Given the description of an element on the screen output the (x, y) to click on. 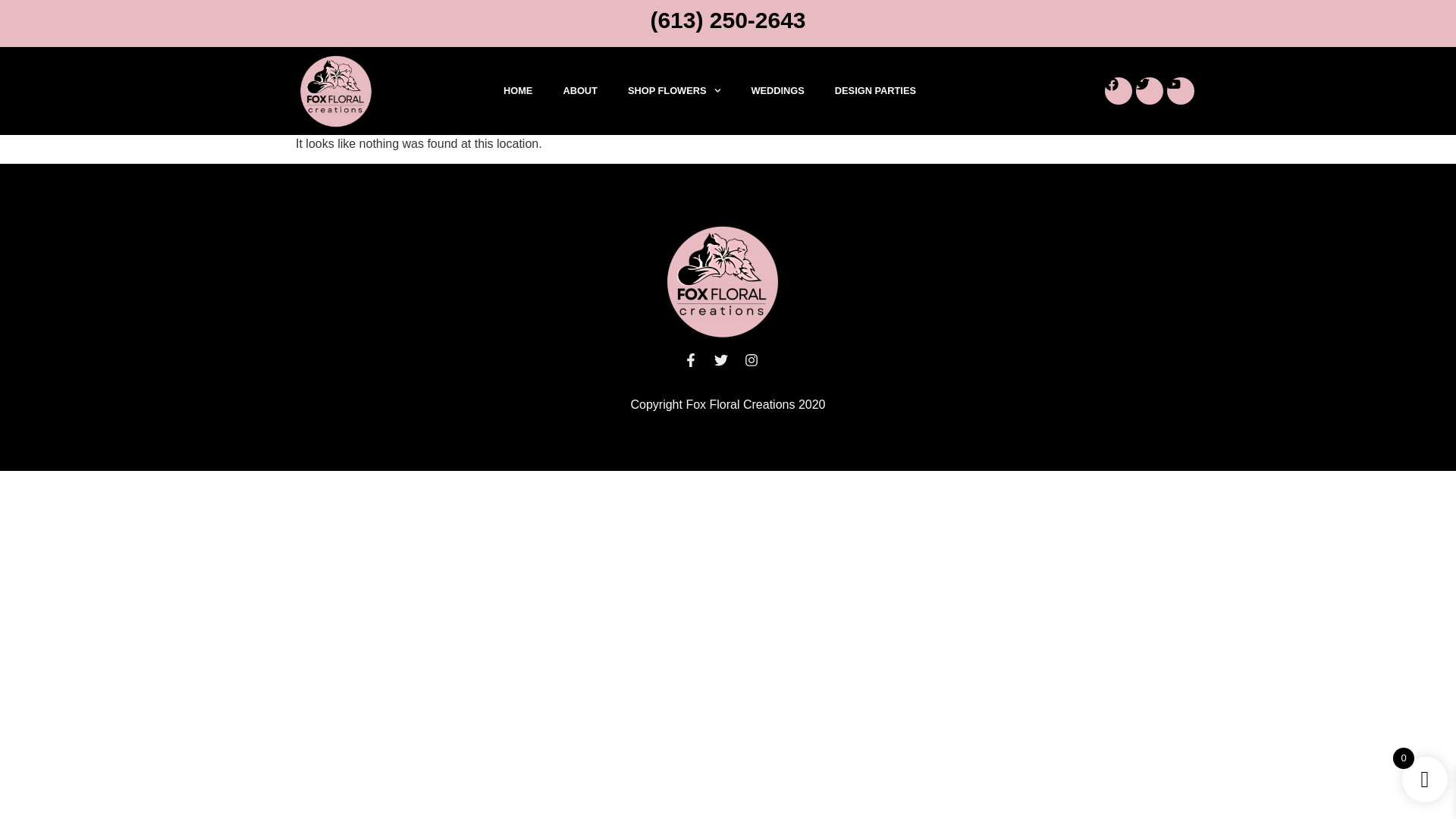
WEDDINGS (776, 90)
HOME (517, 90)
SHOP FLOWERS (674, 90)
ABOUT (579, 90)
DESIGN PARTIES (875, 90)
